Given the description of an element on the screen output the (x, y) to click on. 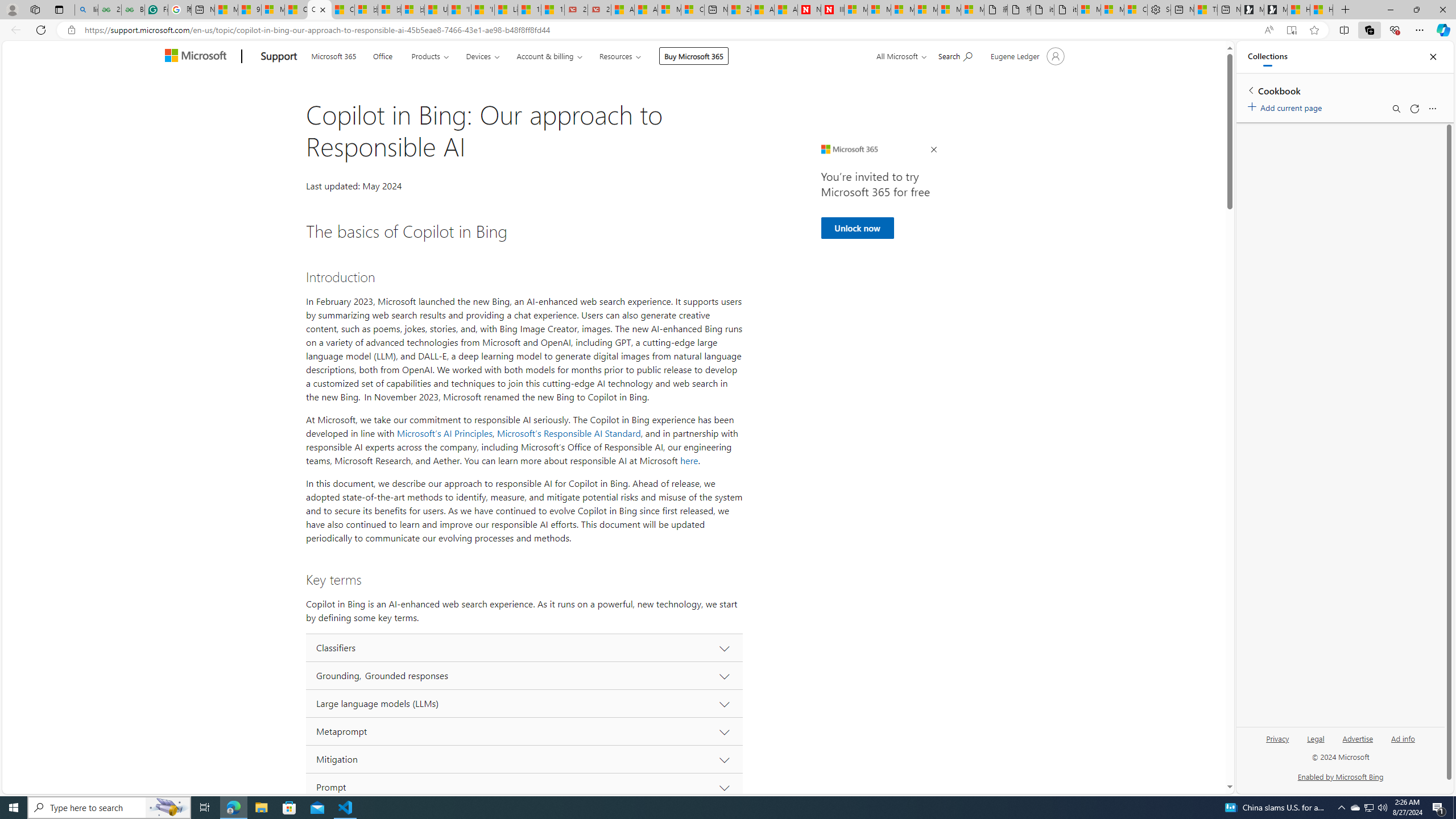
25 Basic Linux Commands For Beginners - GeeksforGeeks (109, 9)
USA TODAY - MSN (435, 9)
Add current page (1286, 105)
Office (382, 54)
Cloud Computing Services | Microsoft Azure (692, 9)
Lifestyle - MSN (505, 9)
